Given the description of an element on the screen output the (x, y) to click on. 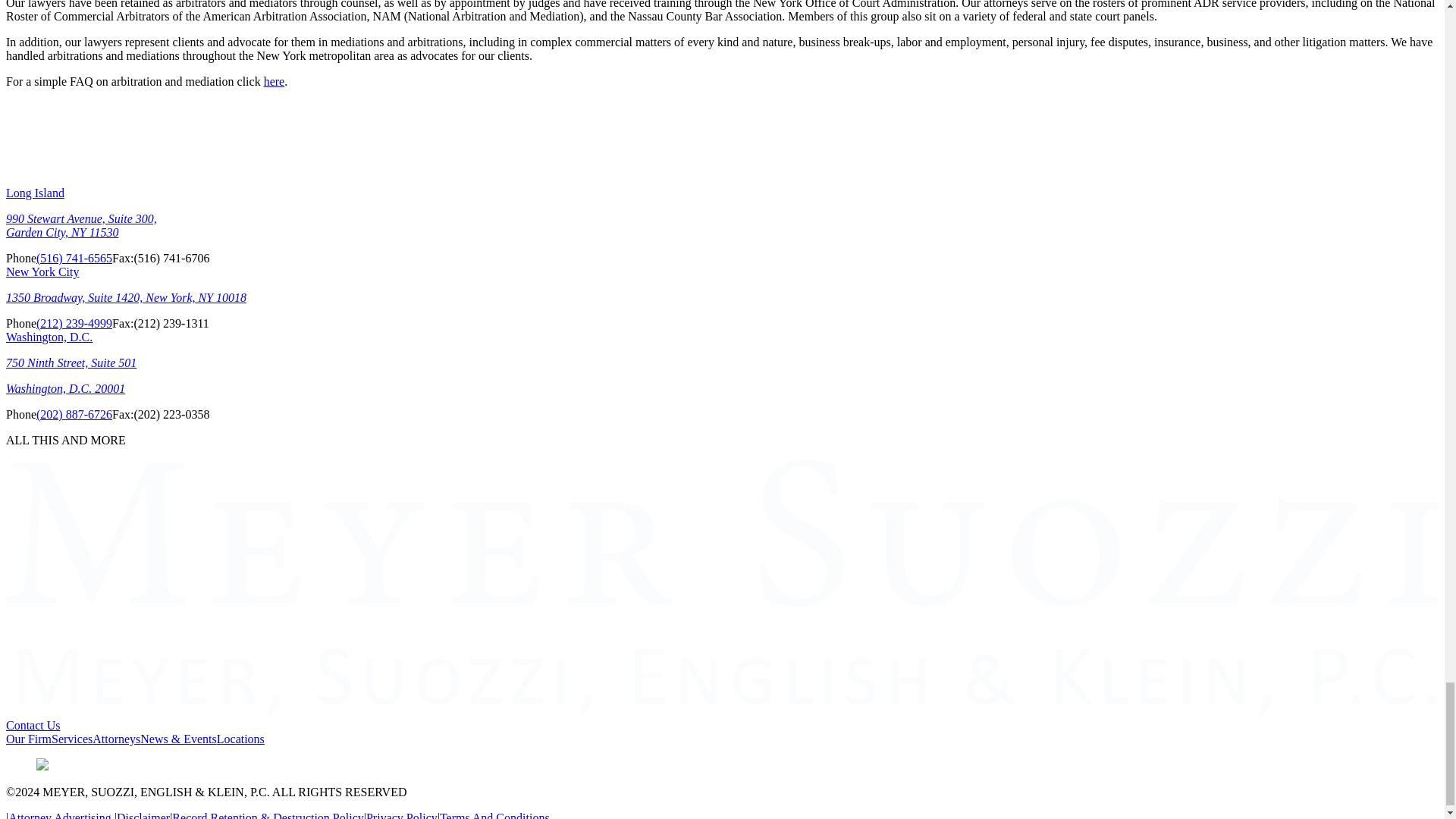
Long Island (34, 192)
Washington, D.C. (49, 336)
Contact Us (33, 725)
New York City (41, 271)
here (274, 81)
